Given the description of an element on the screen output the (x, y) to click on. 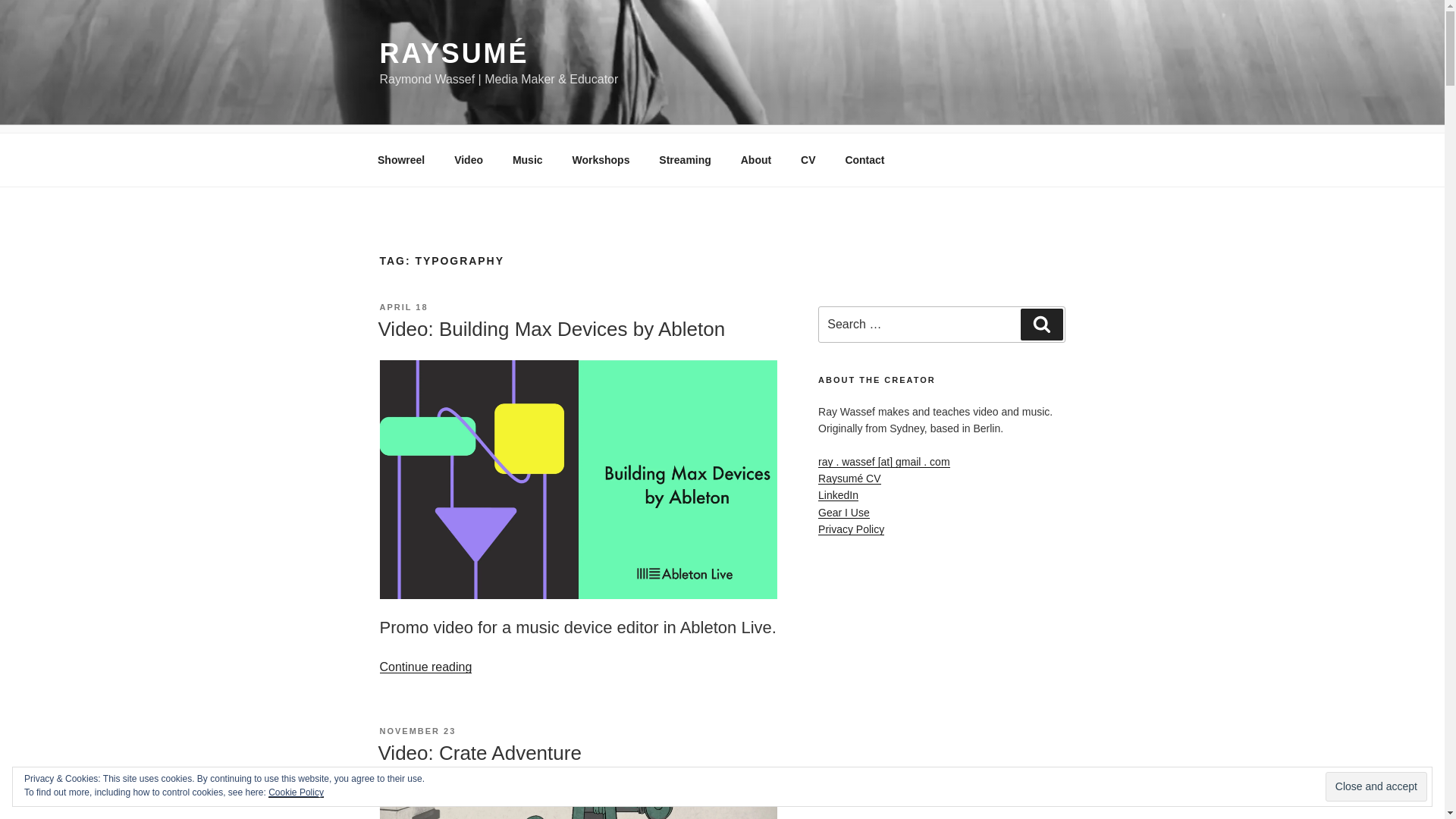
Workshops (601, 159)
Video (468, 159)
Video: Building Max Devices by Ableton (551, 328)
Showreel (401, 159)
Close and accept (1375, 786)
Contact (864, 159)
NOVEMBER 23 (416, 730)
Music (527, 159)
Video: Crate Adventure (478, 753)
About (755, 159)
Streaming (684, 159)
APRIL 18 (403, 307)
CV (807, 159)
